Given the description of an element on the screen output the (x, y) to click on. 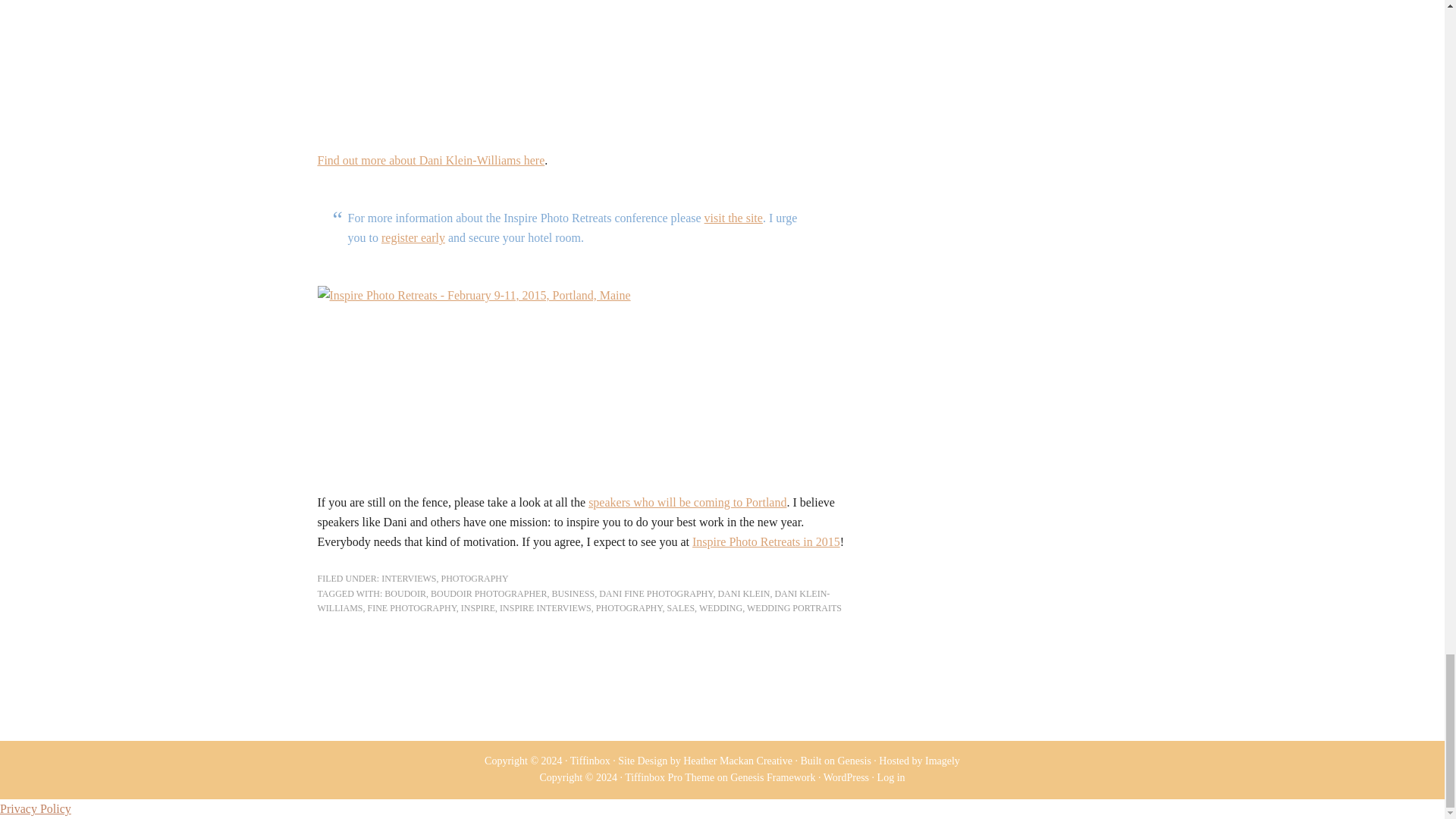
speakers who will be coming to Portland (687, 502)
INTERVIEWS (408, 578)
Genesis (853, 760)
Heather Mackan Creative (737, 760)
PHOTOGRAPHY (474, 578)
INSPIRE INTERVIEWS (545, 607)
INSPIRE (478, 607)
Find out more about Dani Klein-Williams here (430, 160)
BOUDOIR (405, 593)
Inspire Photo Retreats in 2015 (766, 541)
